Given the description of an element on the screen output the (x, y) to click on. 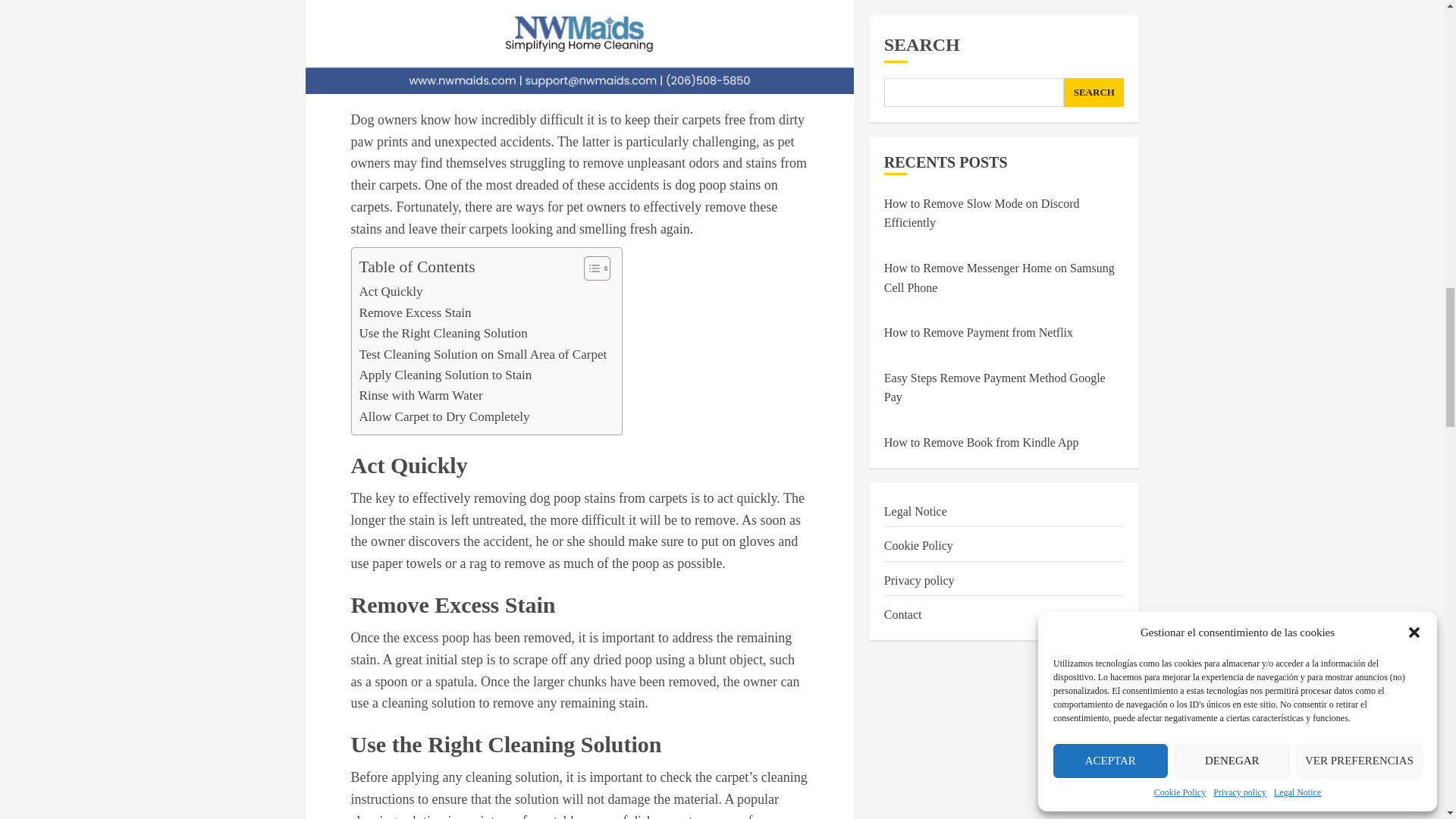
Remove Excess Stain (415, 312)
Test Cleaning Solution on Small Area of Carpet (483, 353)
Act Quickly (391, 291)
Apply Cleaning Solution to Stain (445, 374)
Allow Carpet to Dry Completely (444, 416)
Use the Right Cleaning Solution (443, 332)
Rinse with Warm Water (421, 394)
